Given the description of an element on the screen output the (x, y) to click on. 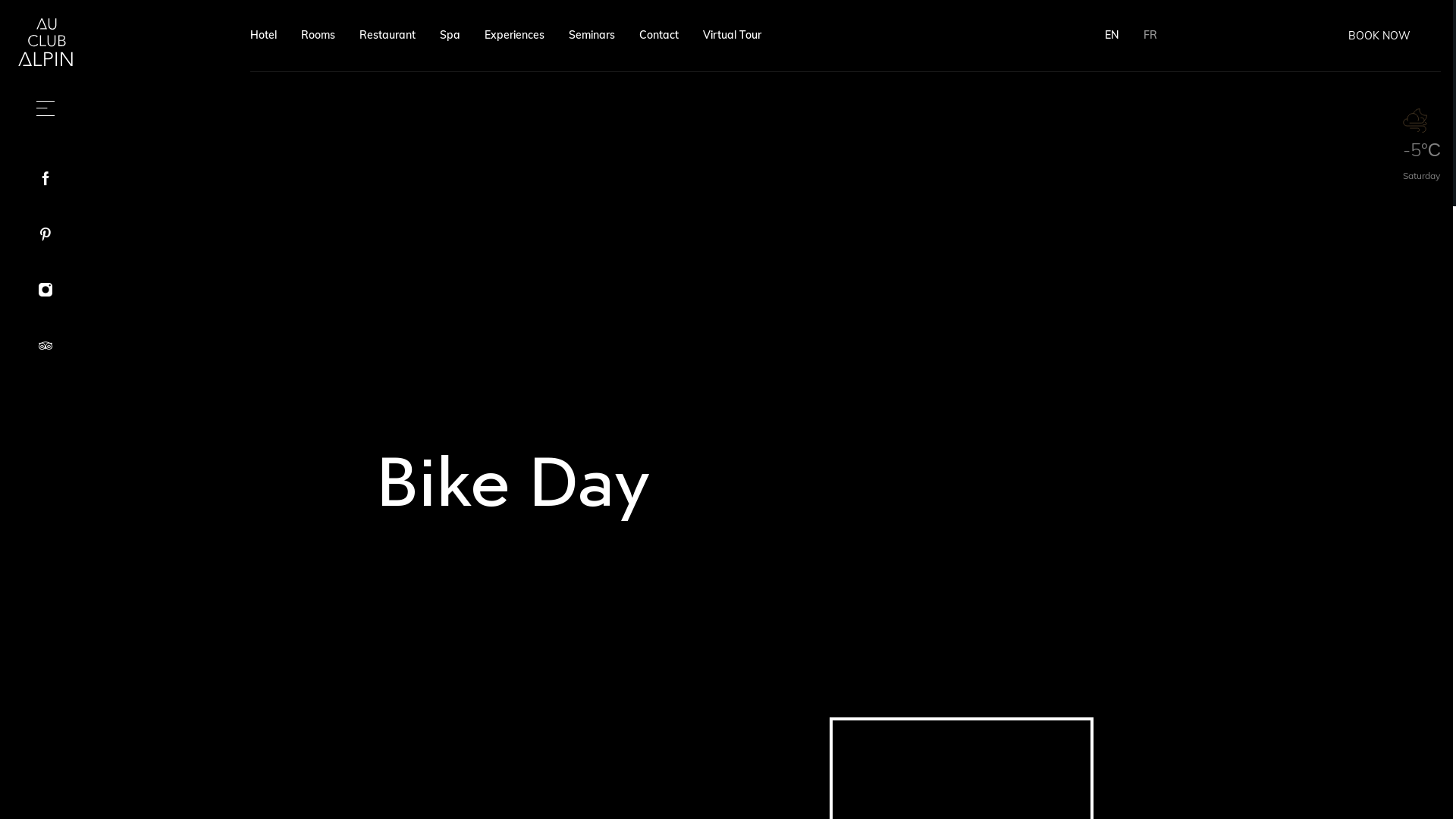
Restaurant Element type: text (387, 34)
Our Pinterest Element type: hover (45, 235)
Our Facebook Element type: hover (45, 179)
EN Element type: text (1111, 34)
Rooms Element type: text (318, 34)
FR Element type: text (1150, 34)
Seminars Element type: text (591, 34)
Our Instagram Element type: hover (45, 291)
Hotel Element type: text (263, 34)
Spa Element type: text (449, 34)
Experiences Element type: text (514, 34)
Open / Close Menu Element type: hover (45, 108)
Virtual Tour Element type: text (731, 34)
Contact Element type: text (658, 34)
Our Trip Advisor Element type: hover (45, 347)
